Given the description of an element on the screen output the (x, y) to click on. 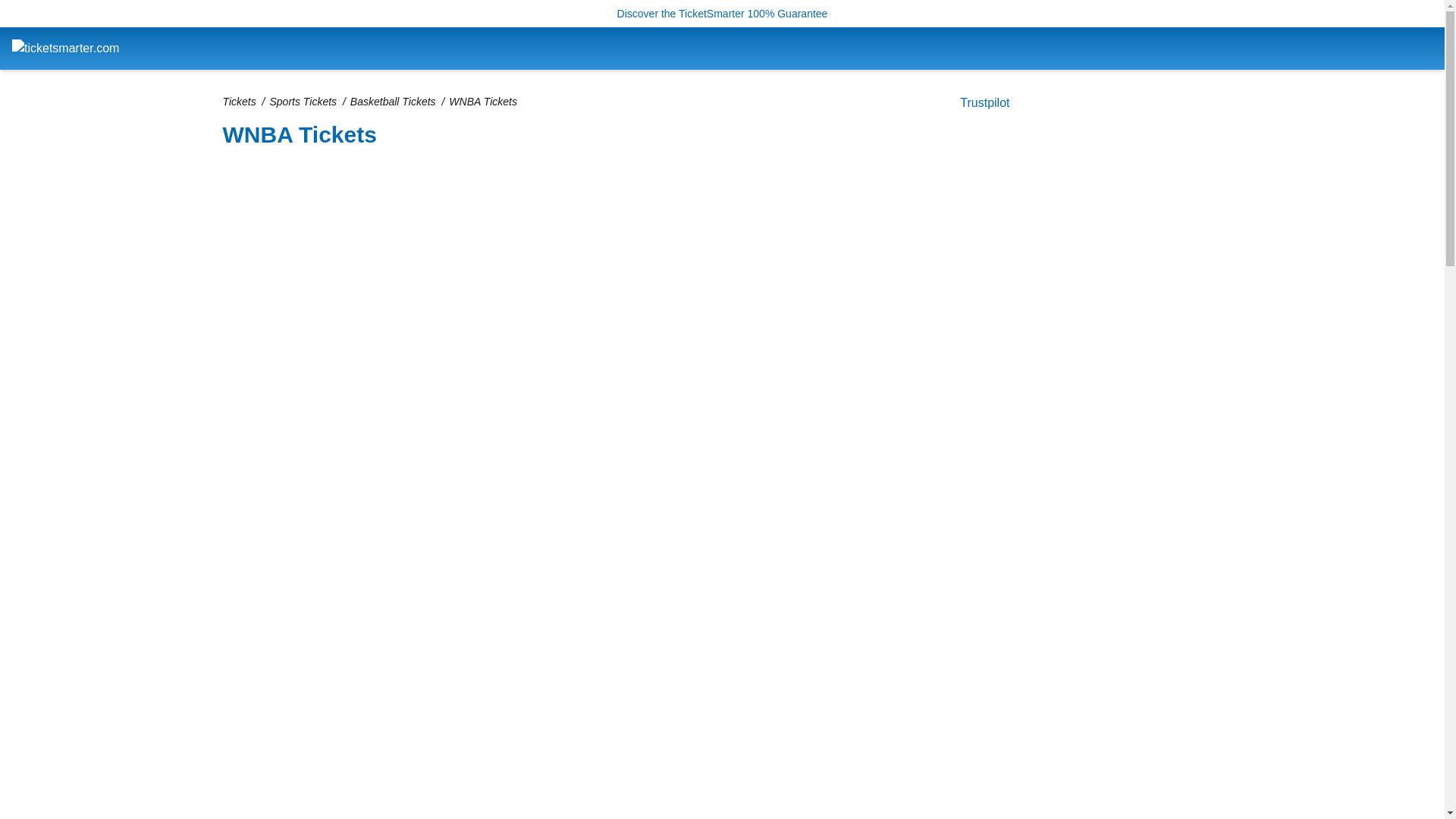
Tickets (239, 101)
Basketball Tickets (392, 101)
Sports Tickets (303, 101)
